Given the description of an element on the screen output the (x, y) to click on. 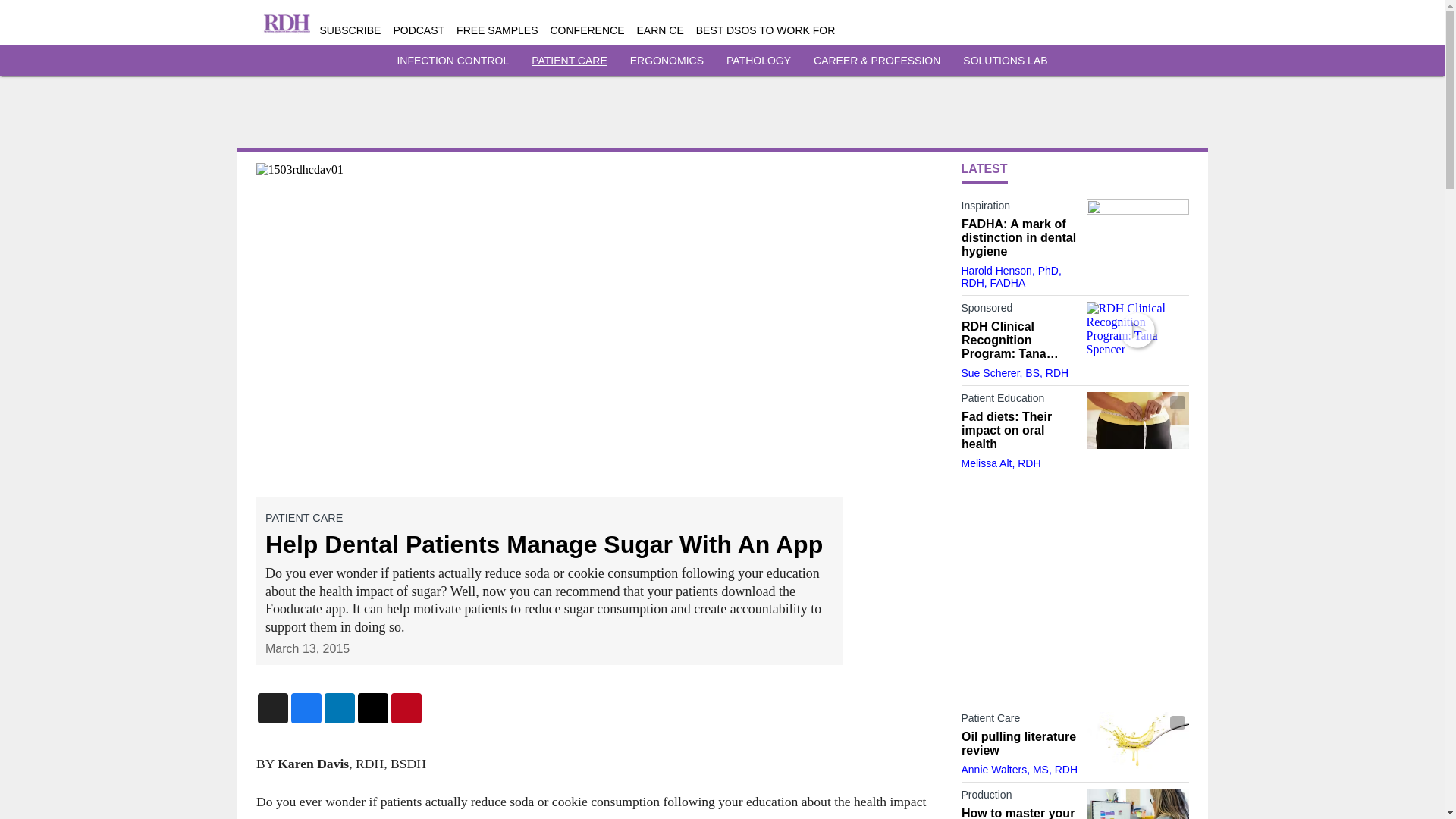
Inspiration (1019, 208)
Oil pulling literature review (1019, 743)
Melissa Alt, RDH (1000, 463)
Patient Education (1019, 401)
RDH Clinical Recognition Program: Tana Spencer (1019, 340)
Sue Scherer, BS, RDH (1014, 372)
Sponsored (1019, 311)
oil pulling in dentistry (1137, 740)
PATHOLOGY (758, 60)
Annie Walters, MS, RDH (1019, 769)
Patient Care (1019, 720)
SOLUTIONS LAB (1004, 60)
CONFERENCE (587, 30)
Fad diets: Their impact on oral health (1019, 430)
